Given the description of an element on the screen output the (x, y) to click on. 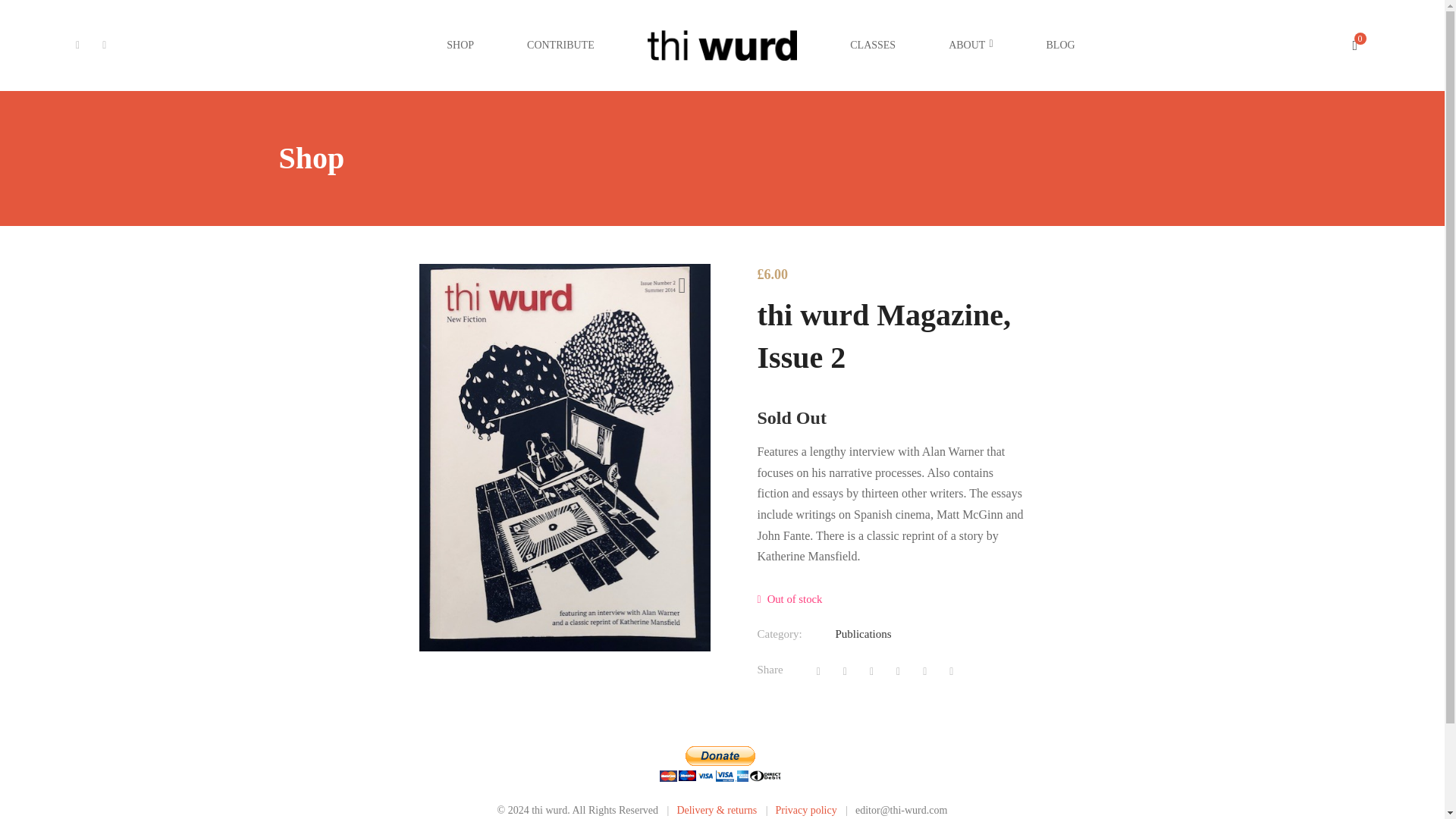
0 (1360, 45)
PayPal - The safer, easier way to pay online! (719, 764)
ABOUT (970, 45)
Privacy policy (804, 809)
CONTRIBUTE (560, 45)
Publications (862, 633)
CLASSES (872, 45)
thi wurd- (722, 44)
